Given the description of an element on the screen output the (x, y) to click on. 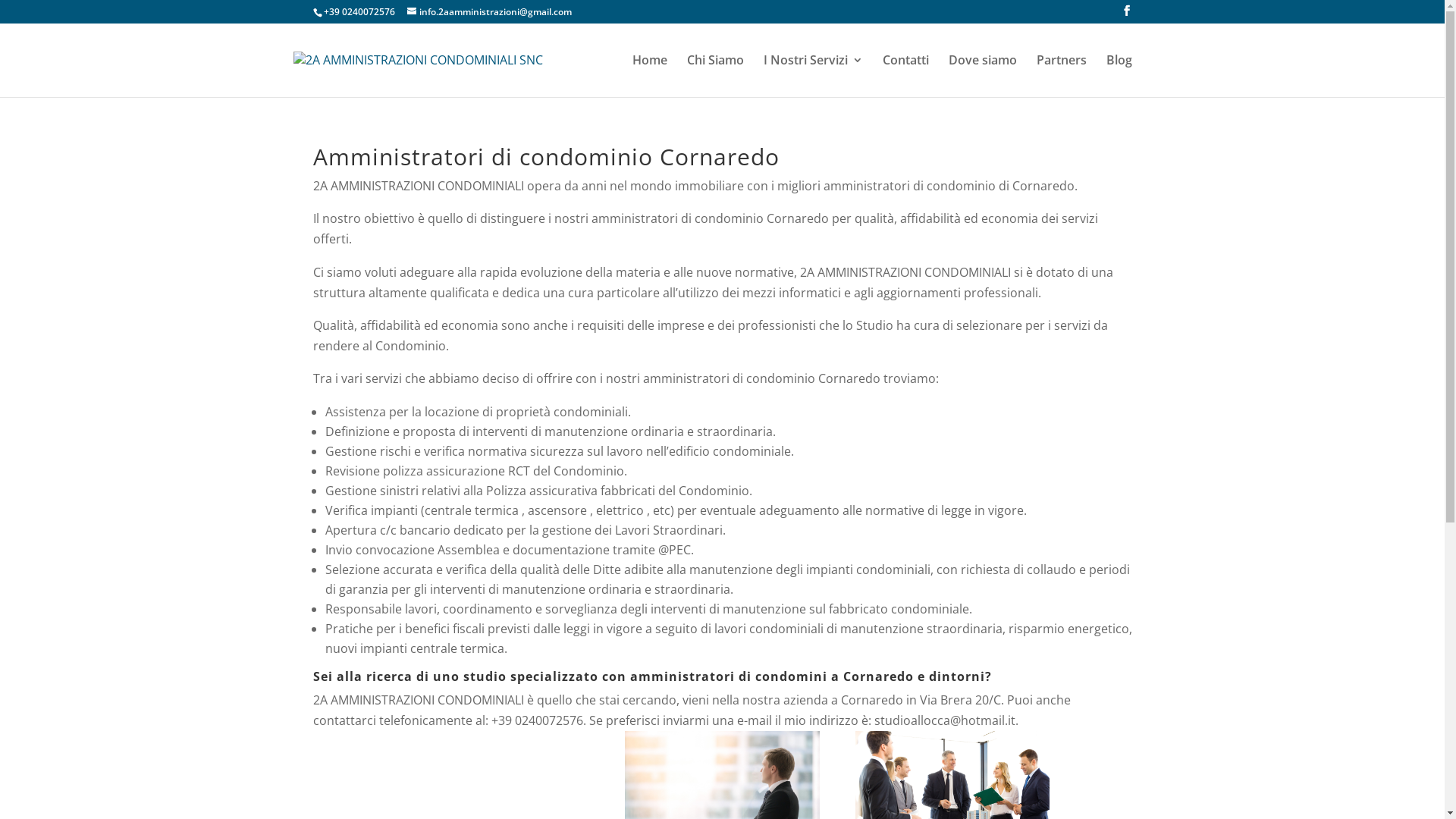
Partners Element type: text (1060, 75)
Contatti Element type: text (905, 75)
+39 0240072576 Element type: text (358, 11)
Blog Element type: text (1118, 75)
Chi Siamo Element type: text (715, 75)
Home Element type: text (649, 75)
Dove siamo Element type: text (981, 75)
I Nostri Servizi Element type: text (812, 75)
info.2aamministrazioni@gmail.com Element type: text (488, 11)
